Given the description of an element on the screen output the (x, y) to click on. 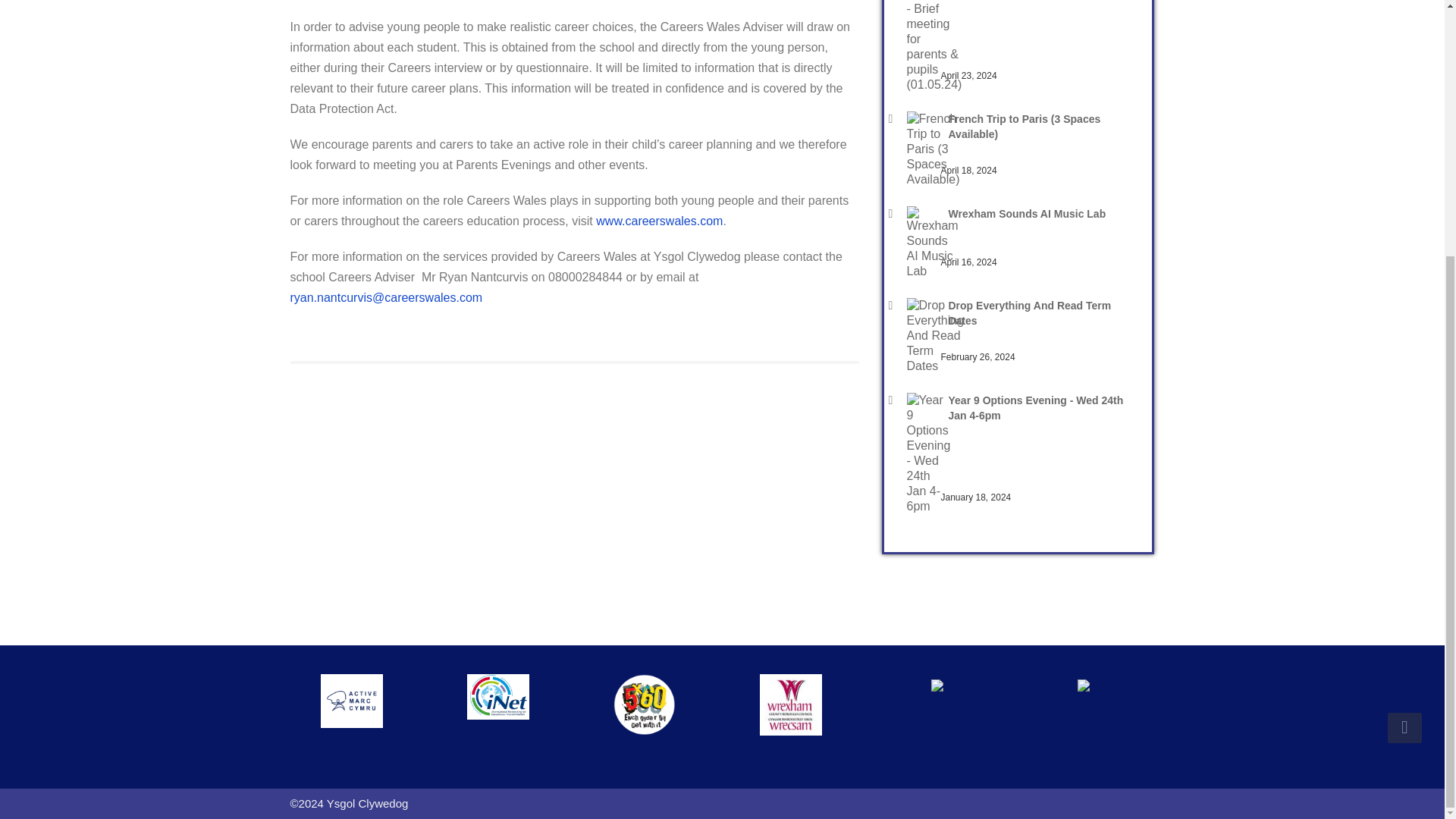
Permalink to Wrexham Sounds AI Music Lab (1038, 213)
Permalink to Year 9 Options Evening - Wed 24th Jan 4-6pm (1038, 408)
Go Top (1404, 363)
Permalink to Drop Everything And Read Term Dates (1038, 313)
